Given the description of an element on the screen output the (x, y) to click on. 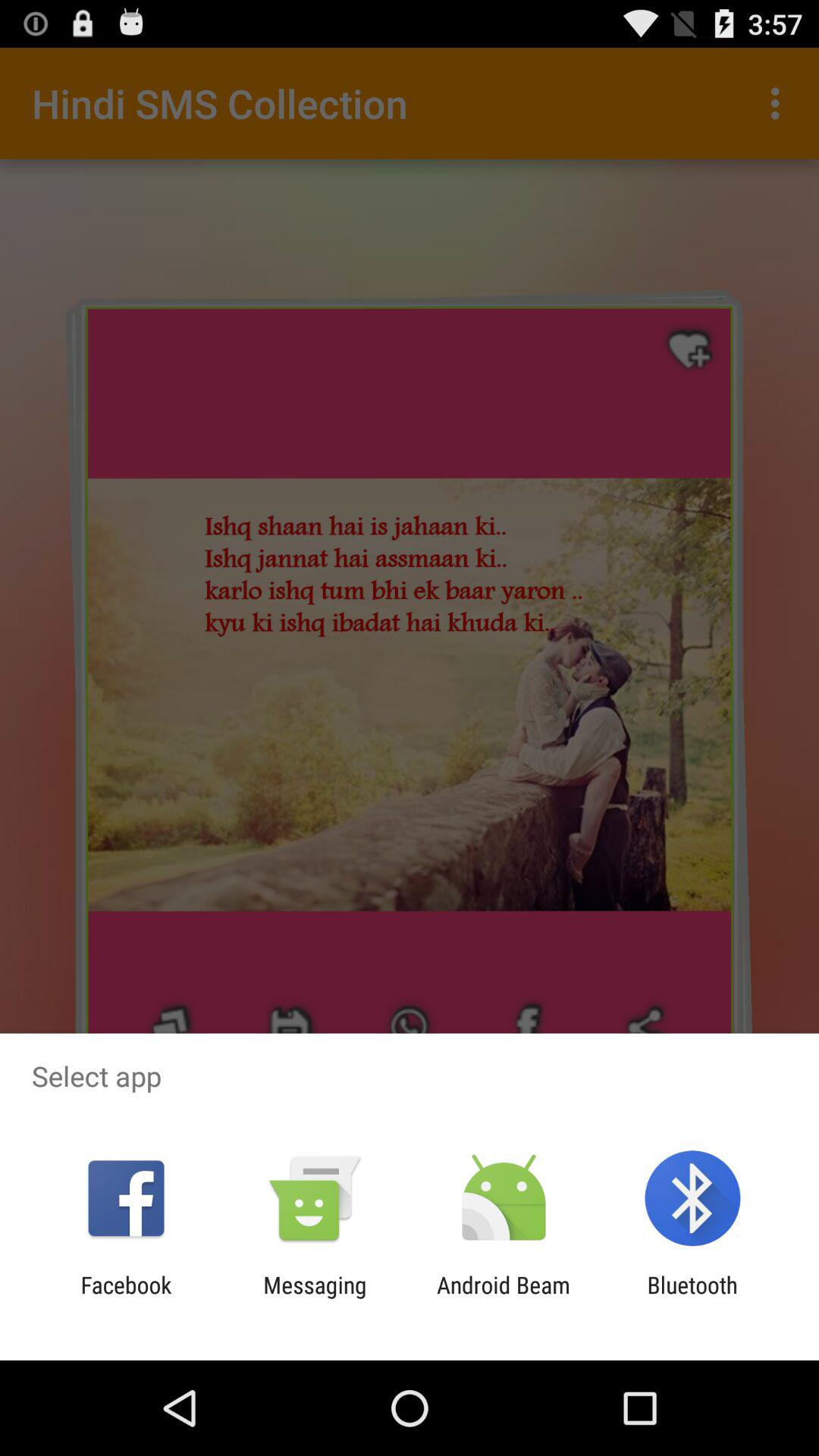
jump until messaging (314, 1298)
